Given the description of an element on the screen output the (x, y) to click on. 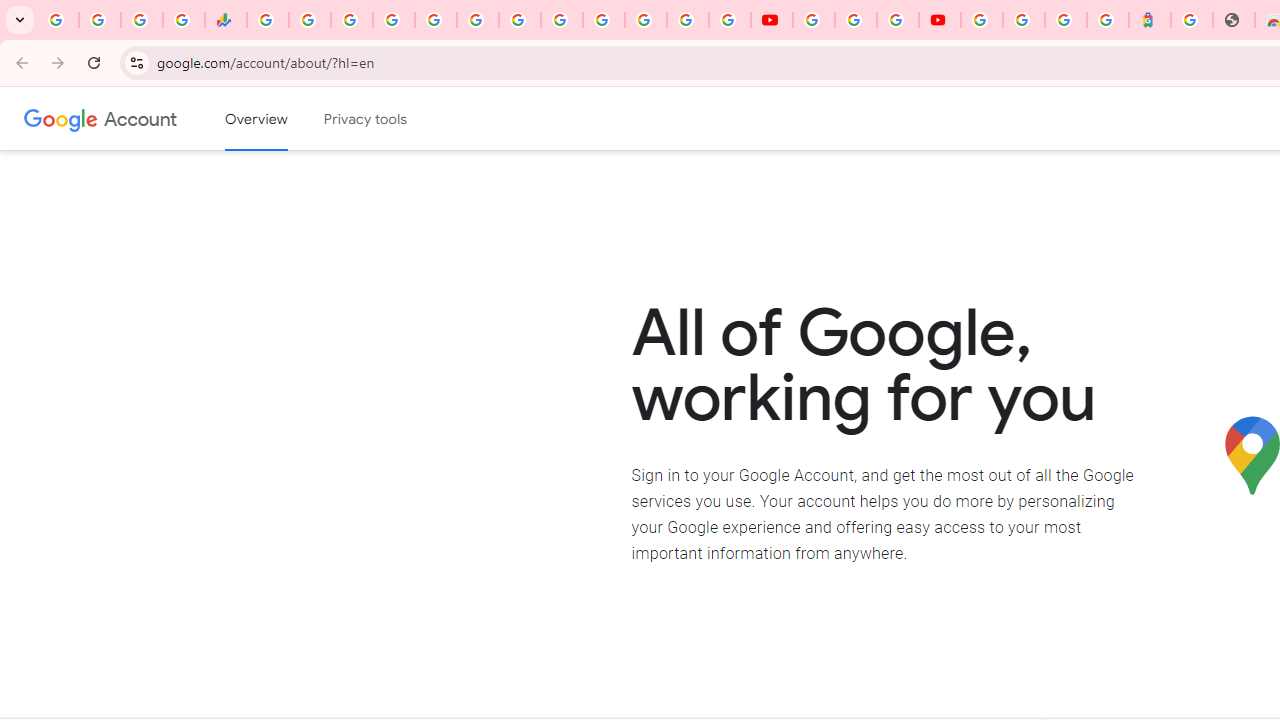
Create your Google Account (897, 20)
Google logo (61, 118)
Sign in - Google Accounts (982, 20)
Sign in - Google Accounts (393, 20)
YouTube (813, 20)
YouTube (772, 20)
Content Creator Programs & Opportunities - YouTube Creators (940, 20)
Google Account (140, 118)
